Given the description of an element on the screen output the (x, y) to click on. 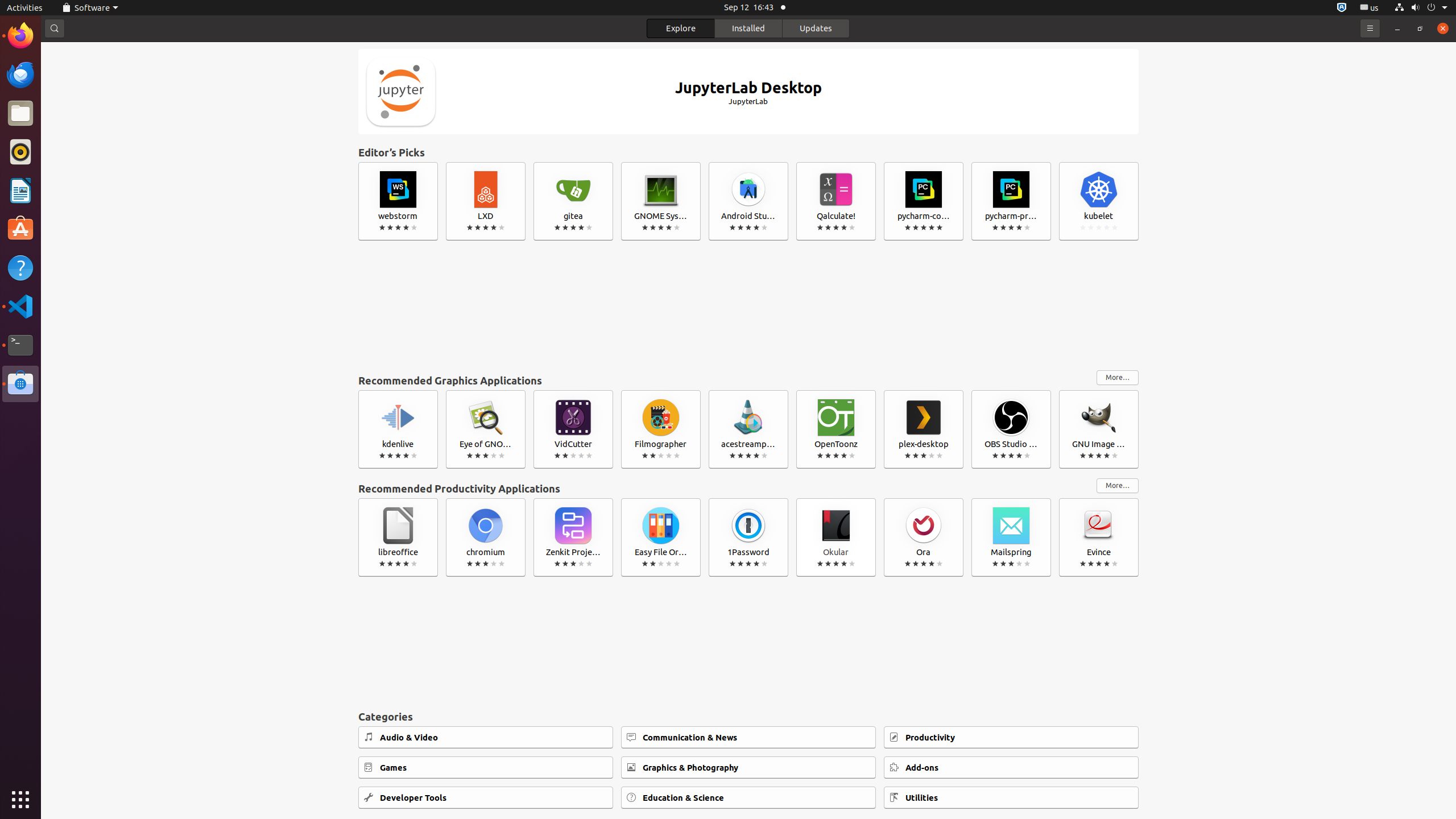
li.txt Element type: label (146, 50)
Activities Element type: label (24, 7)
kubelet Element type: push-button (1098, 201)
Recommended Productivity Applications Element type: label (724, 488)
Software Element type: push-button (20, 383)
